Given the description of an element on the screen output the (x, y) to click on. 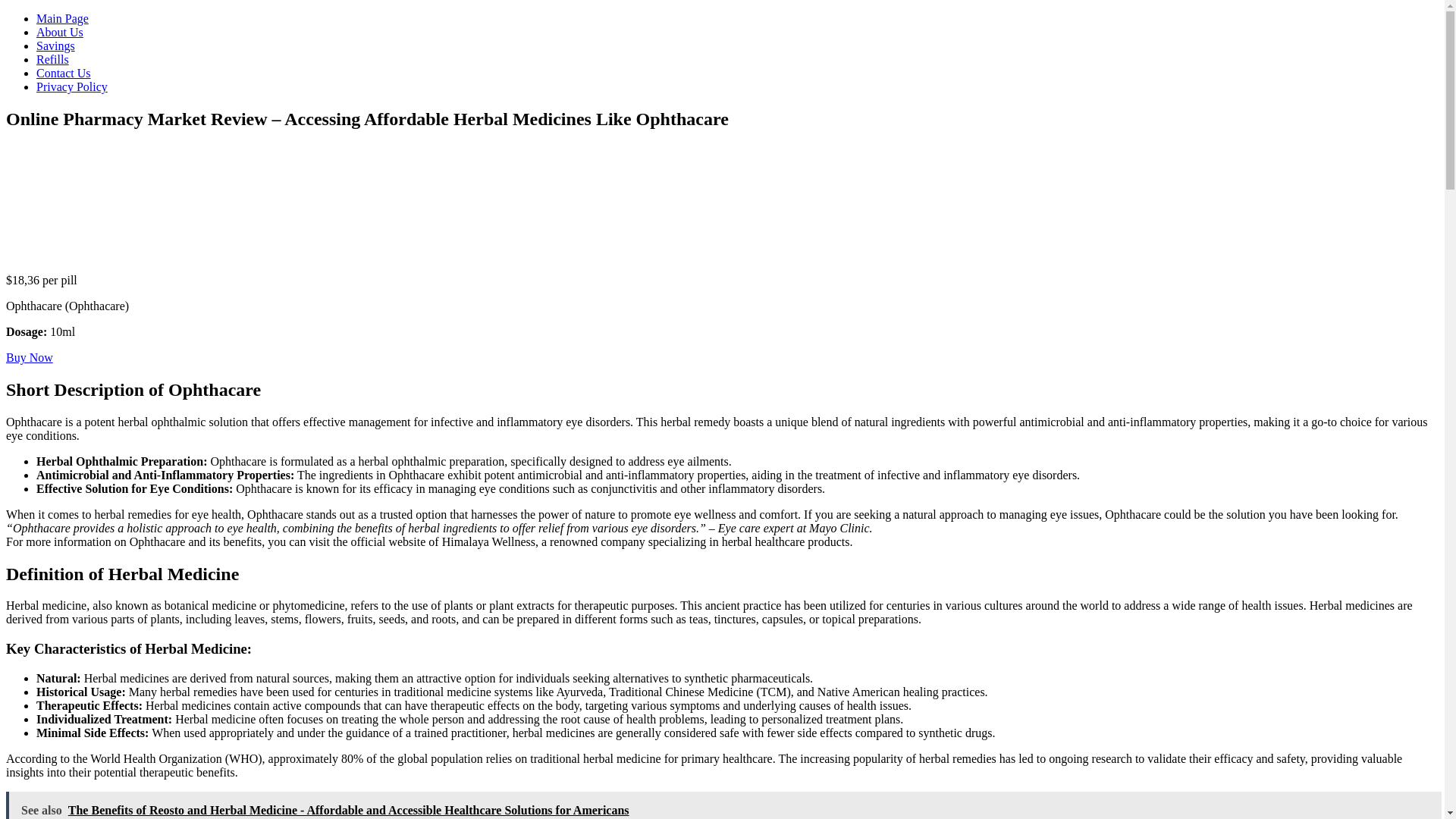
Refills (52, 59)
About Us (59, 31)
Privacy Policy (71, 86)
Main Page (62, 18)
Buy Now (28, 357)
Contact Us (63, 72)
Savings (55, 45)
